Given the description of an element on the screen output the (x, y) to click on. 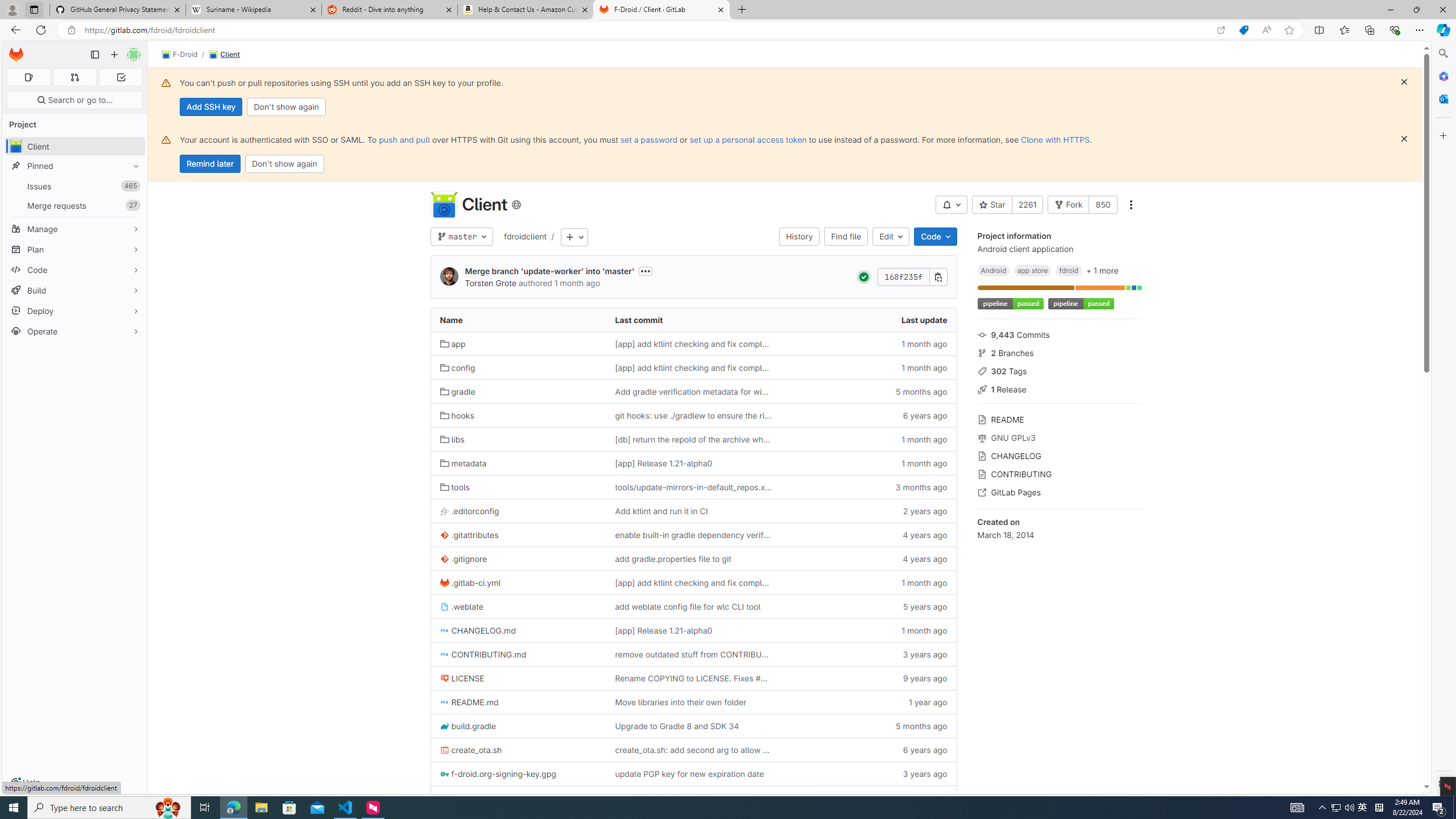
.weblate (517, 606)
Issues465 (74, 185)
Find file (845, 236)
enable built-in gradle dependency verification (692, 535)
F-Droid (179, 54)
master (461, 236)
.editorconfig (469, 511)
CHANGELOG (1058, 455)
Client (443, 204)
1 Release (1058, 388)
README.md (469, 702)
4 years ago (868, 558)
add weblate config file for wlc CLI tool (693, 606)
app (452, 343)
